Given the description of an element on the screen output the (x, y) to click on. 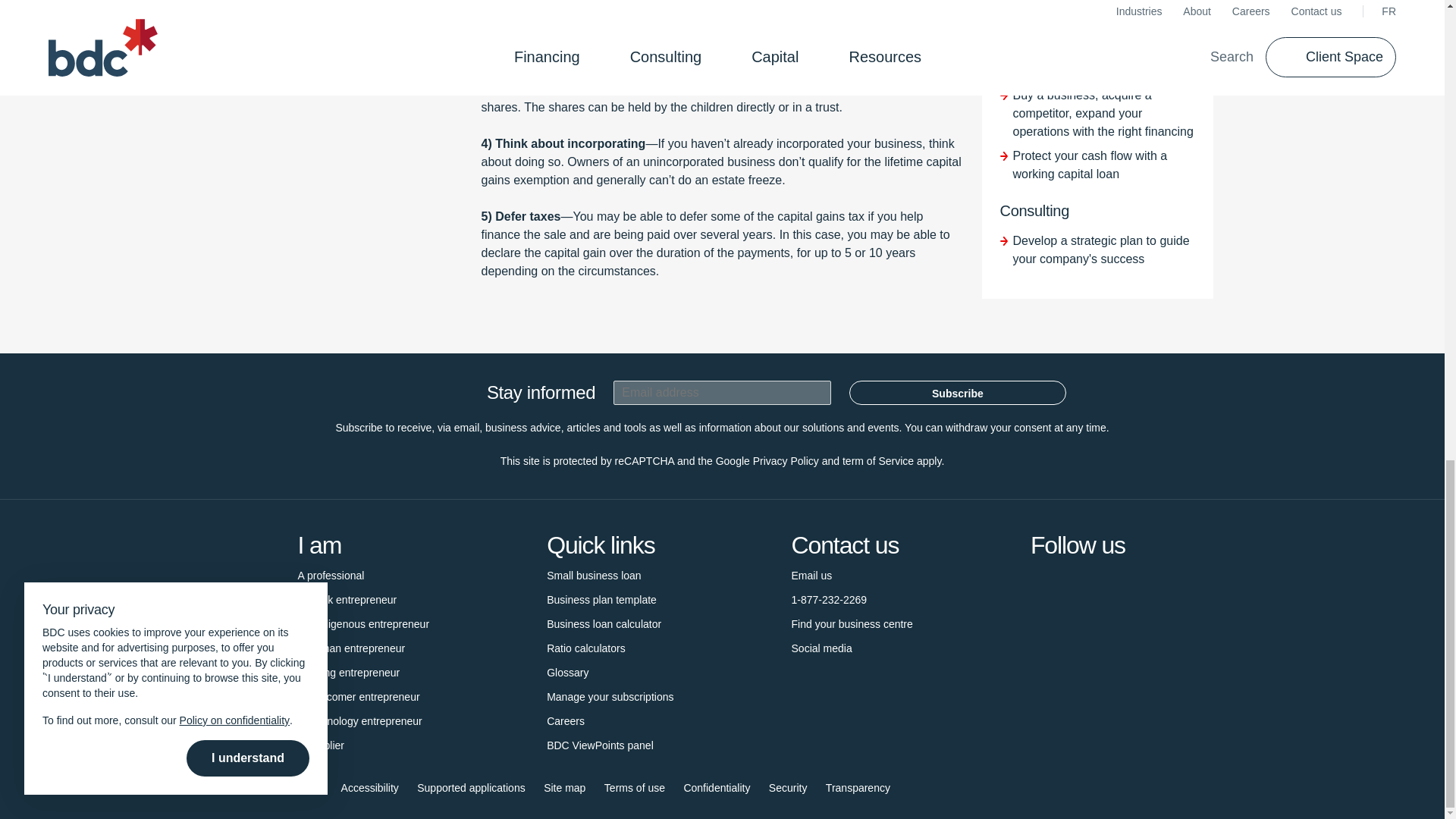
Business dictionary (567, 672)
Professional (330, 575)
Young entrepreneur (347, 672)
Technology (359, 721)
Careers (566, 721)
Woman entrepreneur (350, 648)
Indigenous entrepreneur (363, 623)
Small business loan (594, 575)
Supplier (320, 745)
Business loan calculator (604, 623)
